Given the description of an element on the screen output the (x, y) to click on. 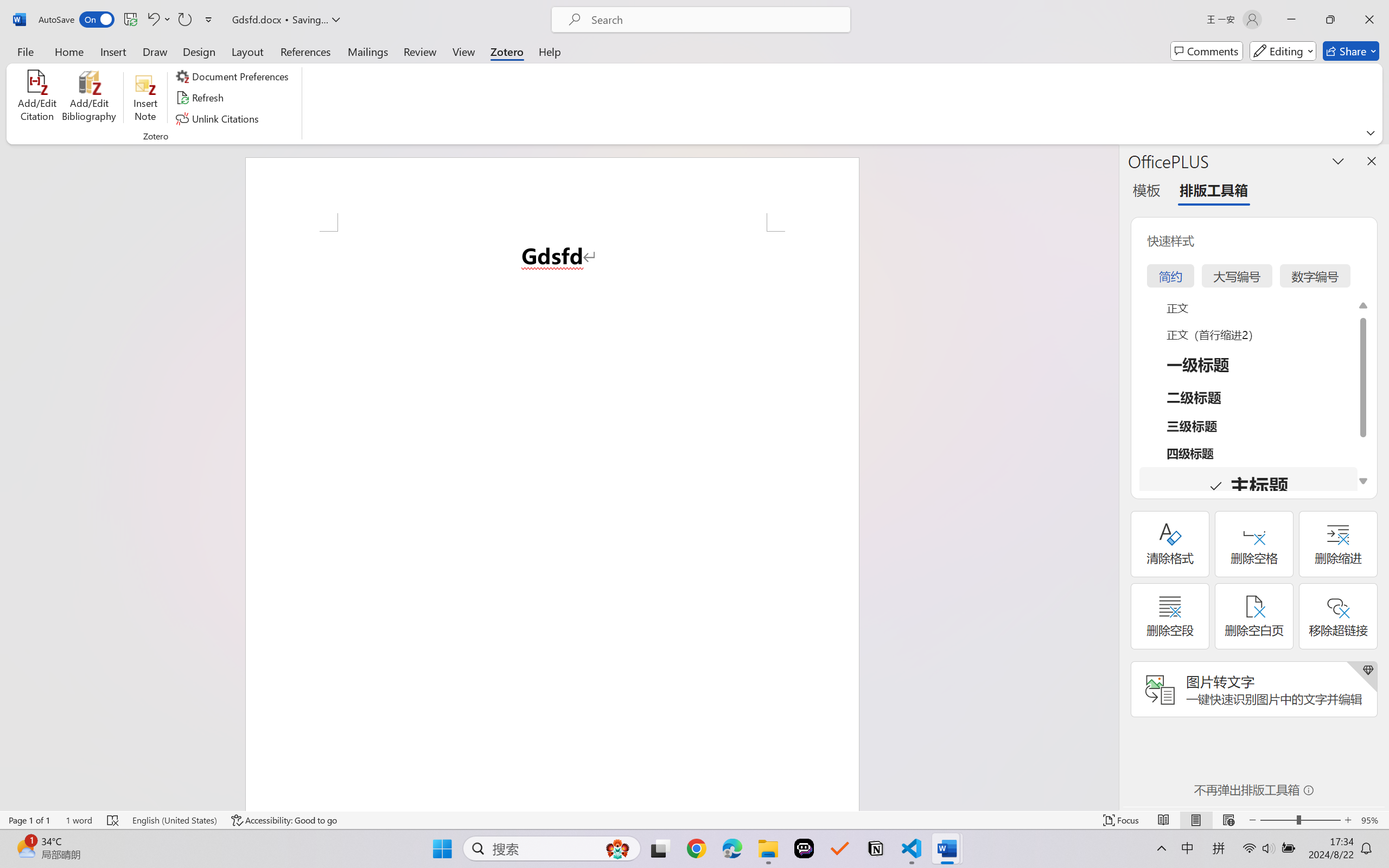
Refresh (201, 97)
Zoom 95% (1372, 819)
Unlink Citations (218, 118)
